Given the description of an element on the screen output the (x, y) to click on. 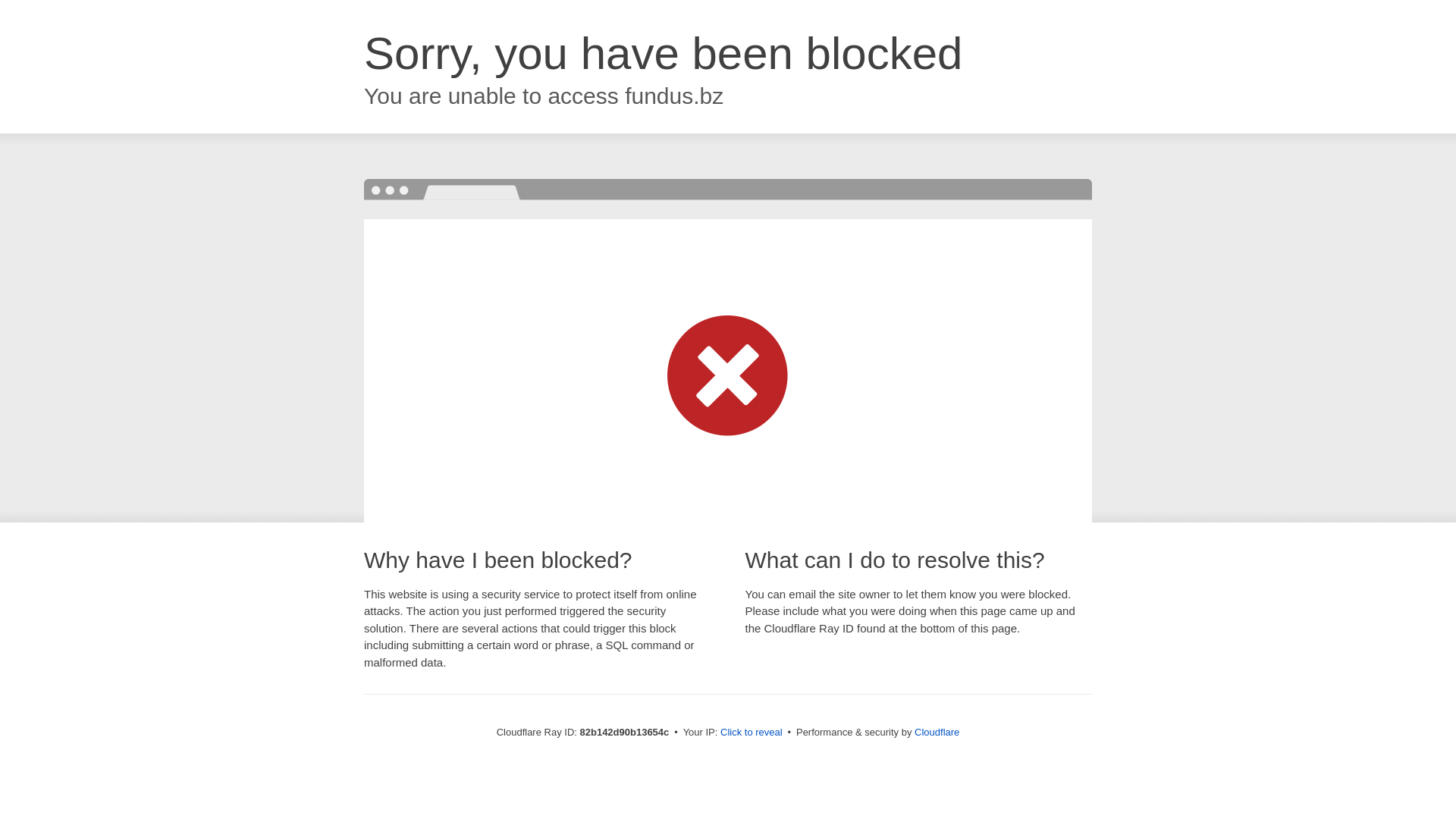
Cloudflare Element type: text (936, 731)
Click to reveal Element type: text (751, 732)
